Given the description of an element on the screen output the (x, y) to click on. 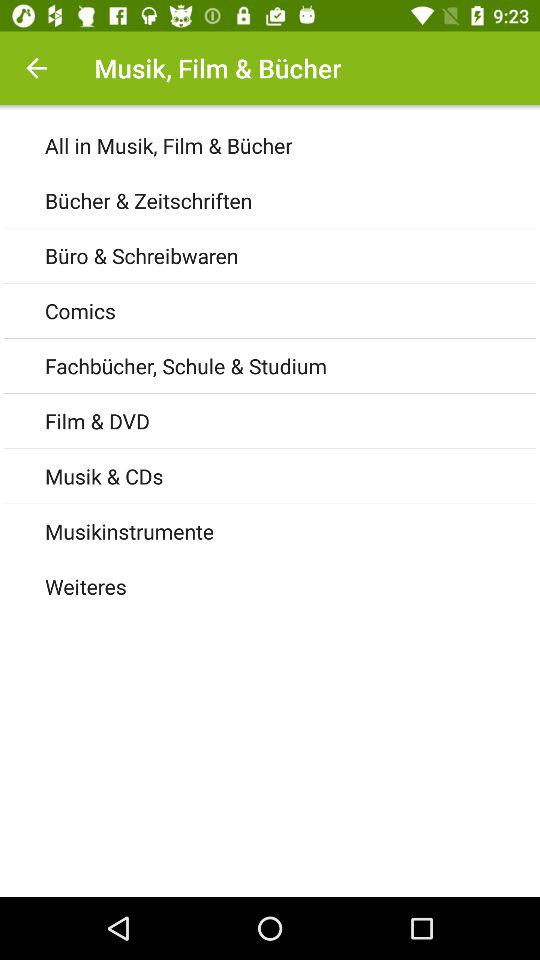
turn off musik & cds (292, 475)
